Given the description of an element on the screen output the (x, y) to click on. 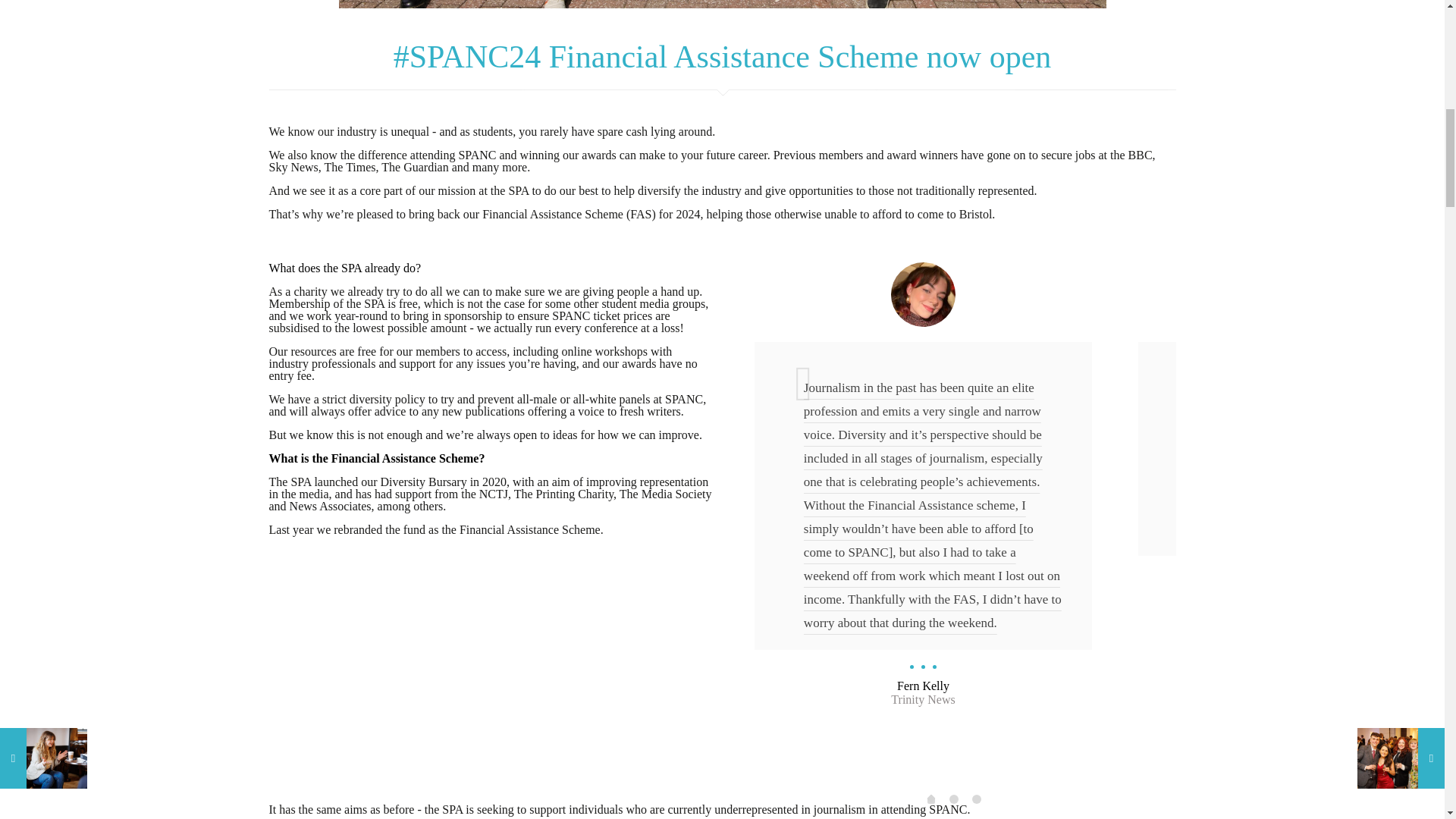
Fern Kelly (922, 685)
